Given the description of an element on the screen output the (x, y) to click on. 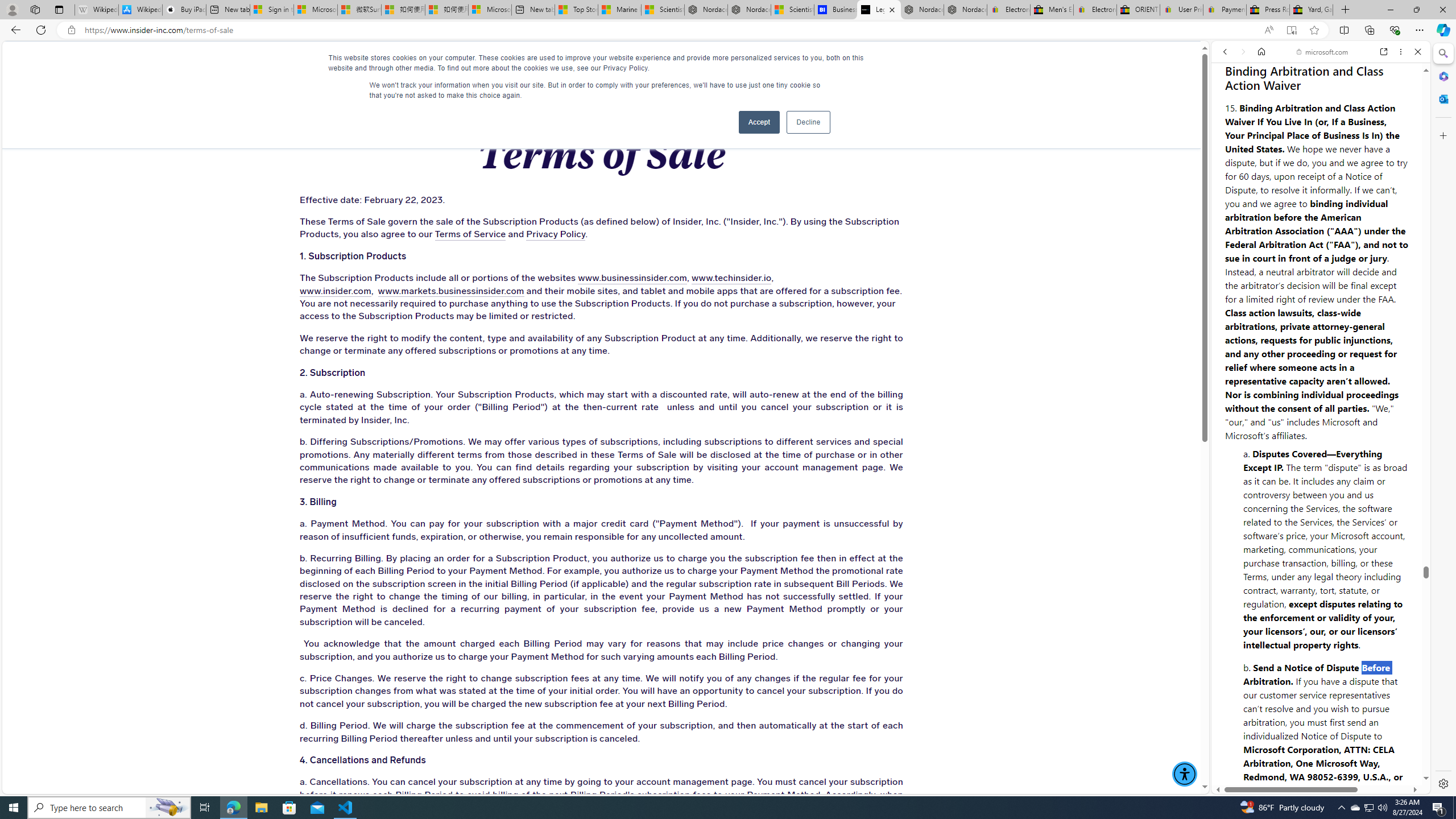
Buy iPad - Apple (184, 9)
CAREERS (830, 62)
Press Room - eBay Inc. (1267, 9)
